Given the description of an element on the screen output the (x, y) to click on. 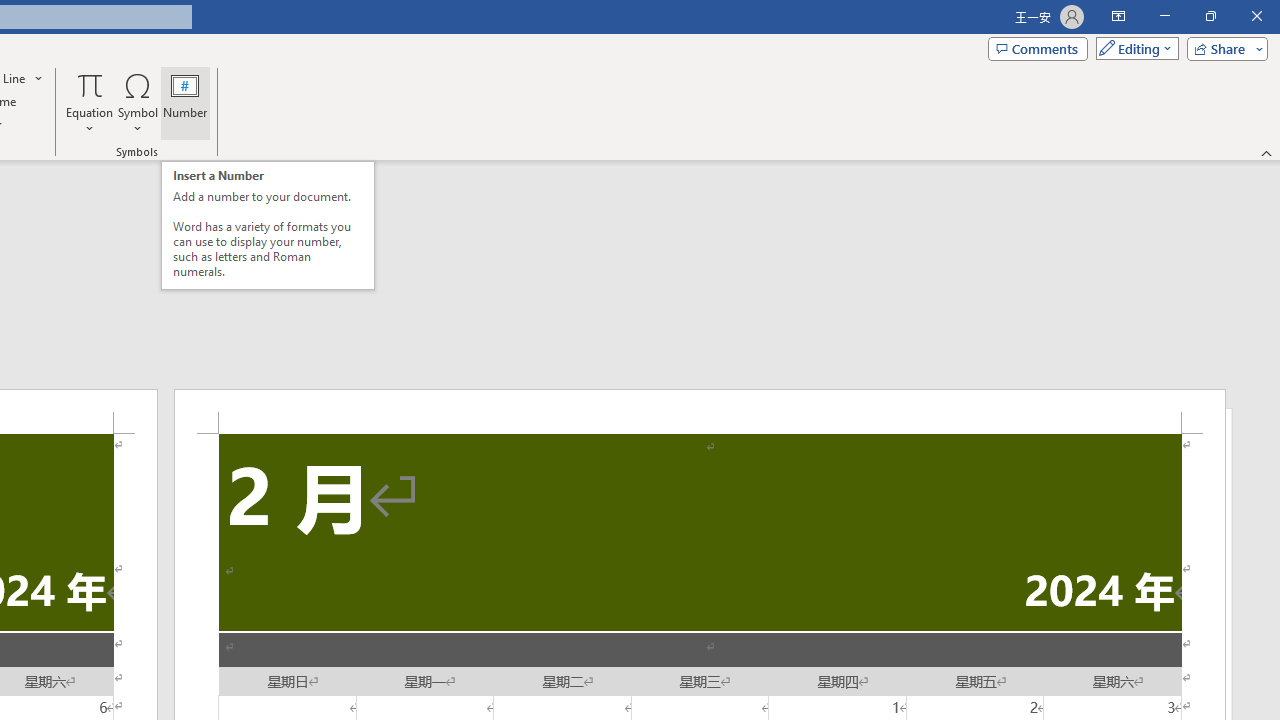
Mode (1133, 47)
Equation (90, 102)
Symbol (138, 102)
Equation (90, 84)
Number... (185, 102)
